Given the description of an element on the screen output the (x, y) to click on. 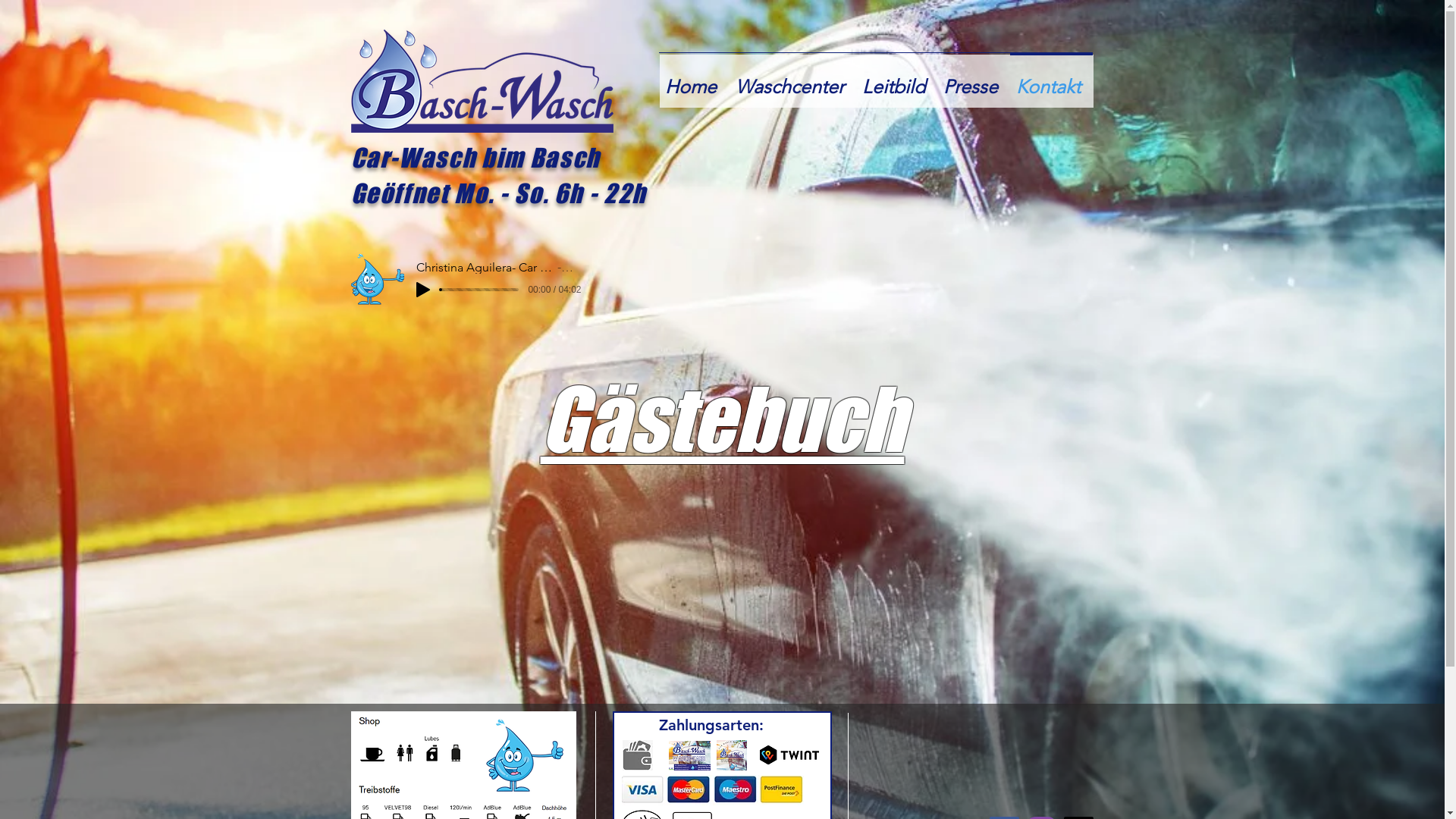
Basch Wasch Cleany freigestellt.png Element type: hover (523, 755)
Home Element type: text (693, 79)
Kontakt Element type: text (1051, 79)
Leitbild Element type: text (895, 79)
Presse Element type: text (973, 79)
Waschcenter Element type: text (792, 79)
